Given the description of an element on the screen output the (x, y) to click on. 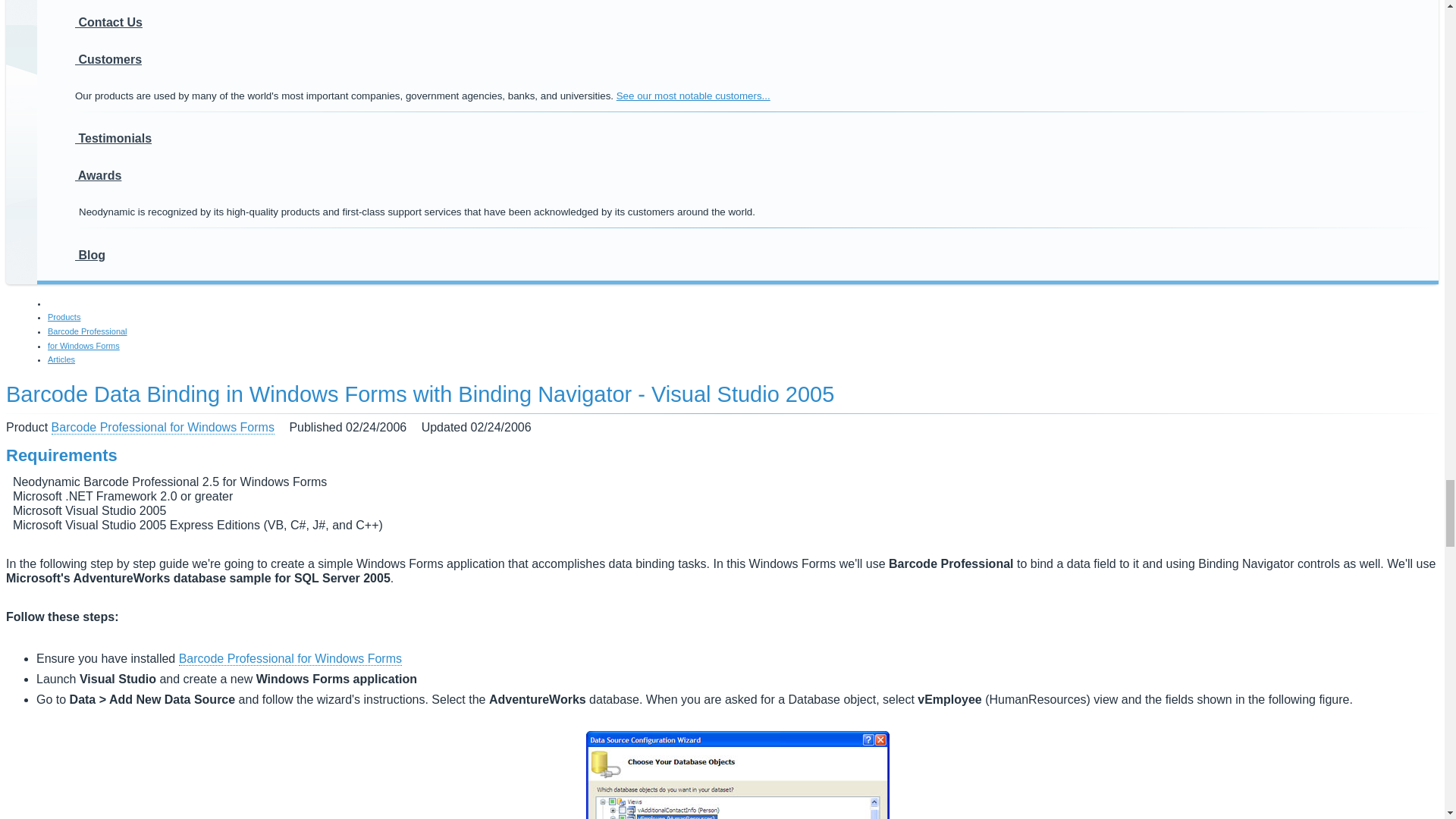
Barcode Professional for Windows Forms (290, 658)
